Given the description of an element on the screen output the (x, y) to click on. 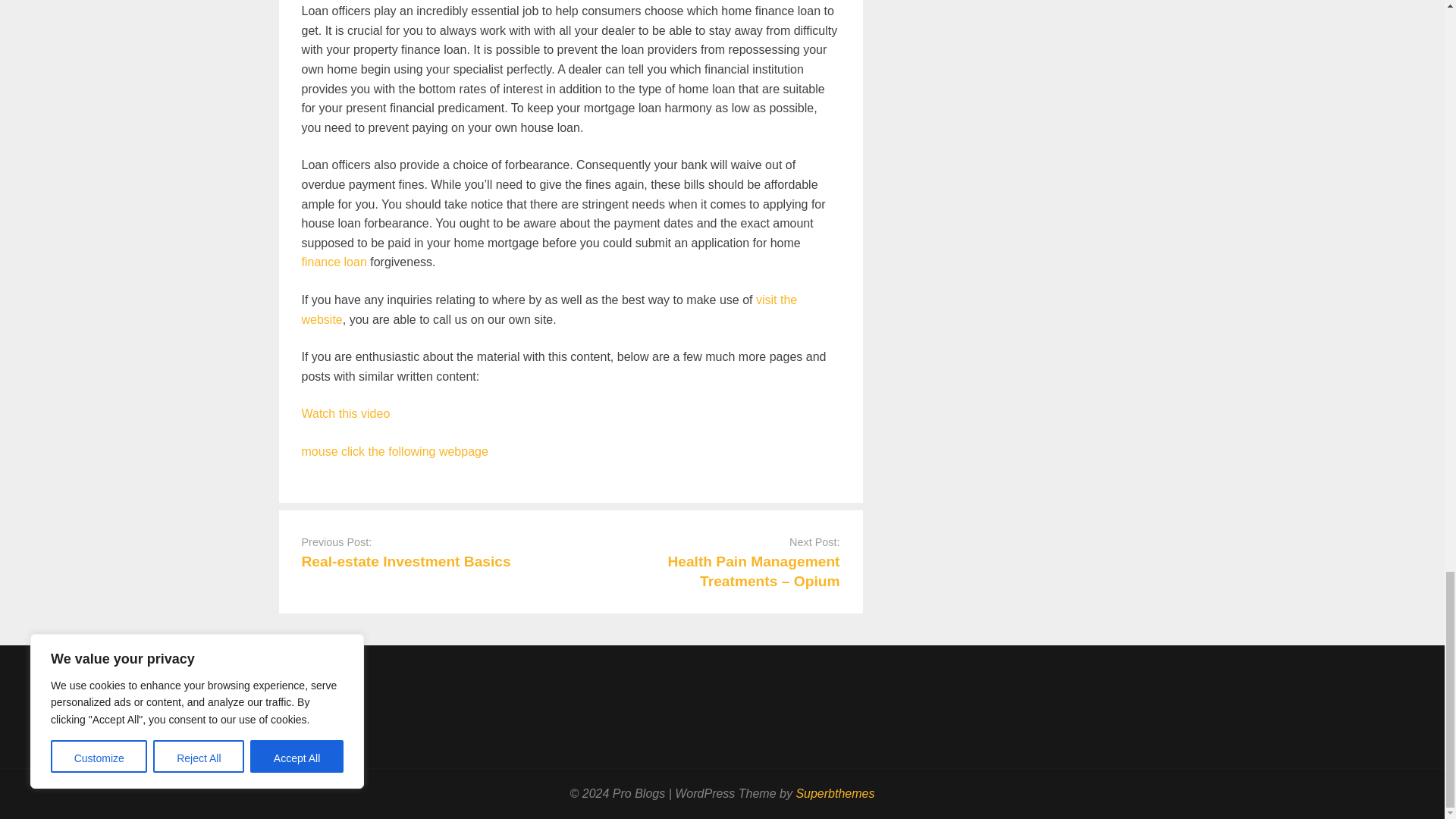
finance loan (333, 261)
Watch this video (345, 413)
visit the website (549, 309)
Real-estate Investment Basics (406, 561)
mouse click the following webpage (394, 451)
